Given the description of an element on the screen output the (x, y) to click on. 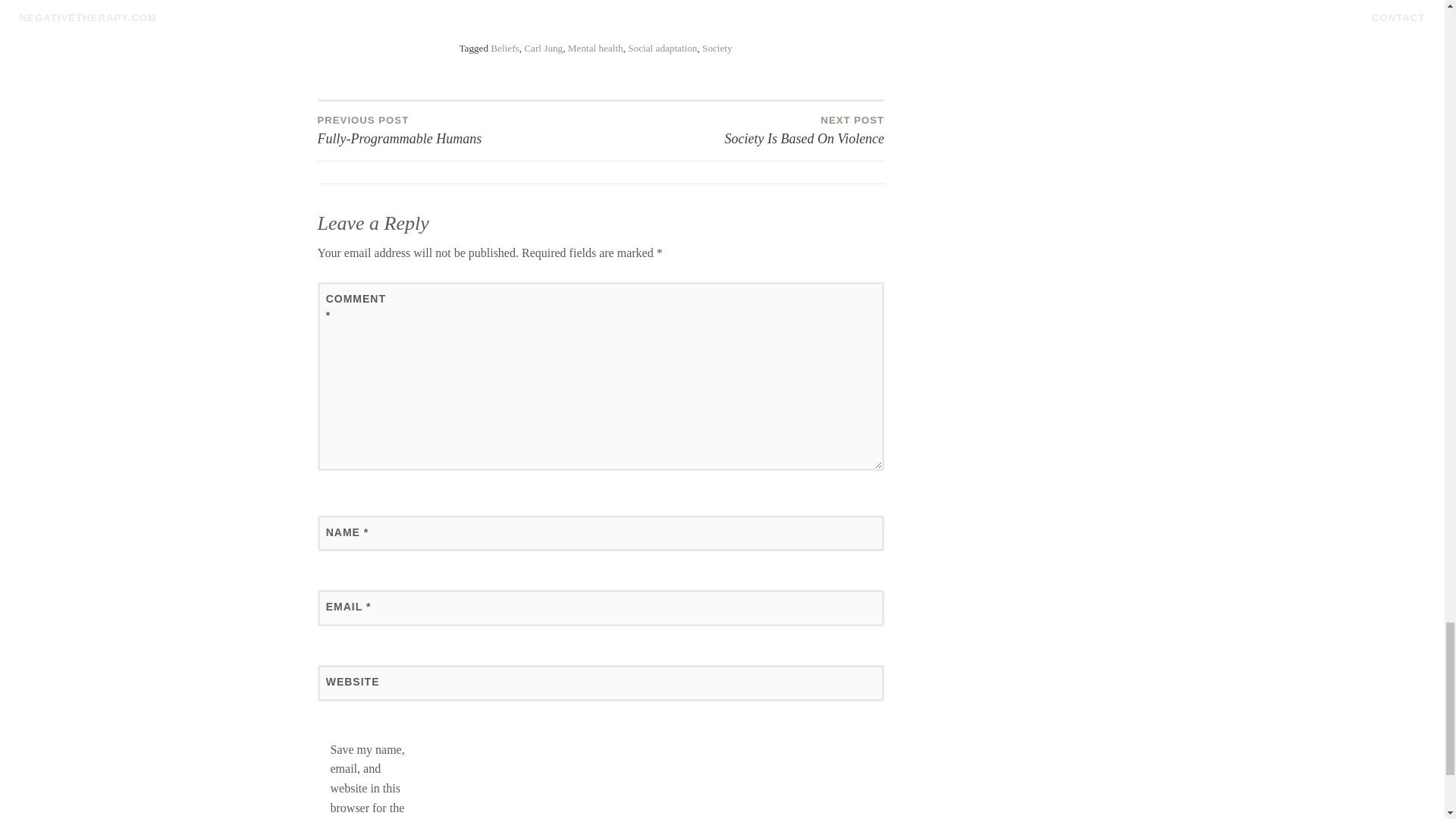
Society (741, 129)
Mental health (716, 48)
Social adaptation (458, 129)
Beliefs (595, 48)
Carl Jung (662, 48)
